Given the description of an element on the screen output the (x, y) to click on. 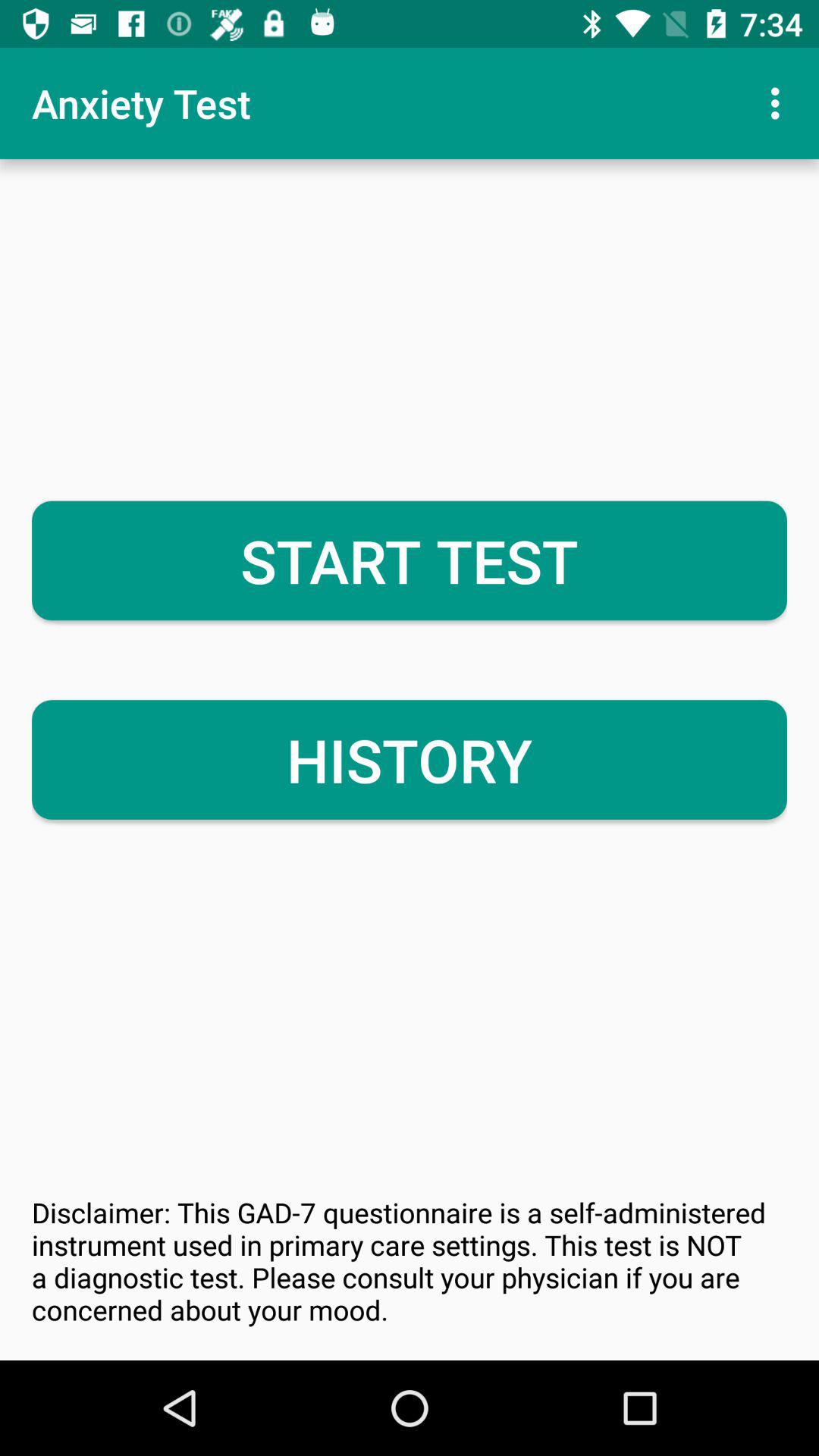
turn on start test icon (409, 560)
